Given the description of an element on the screen output the (x, y) to click on. 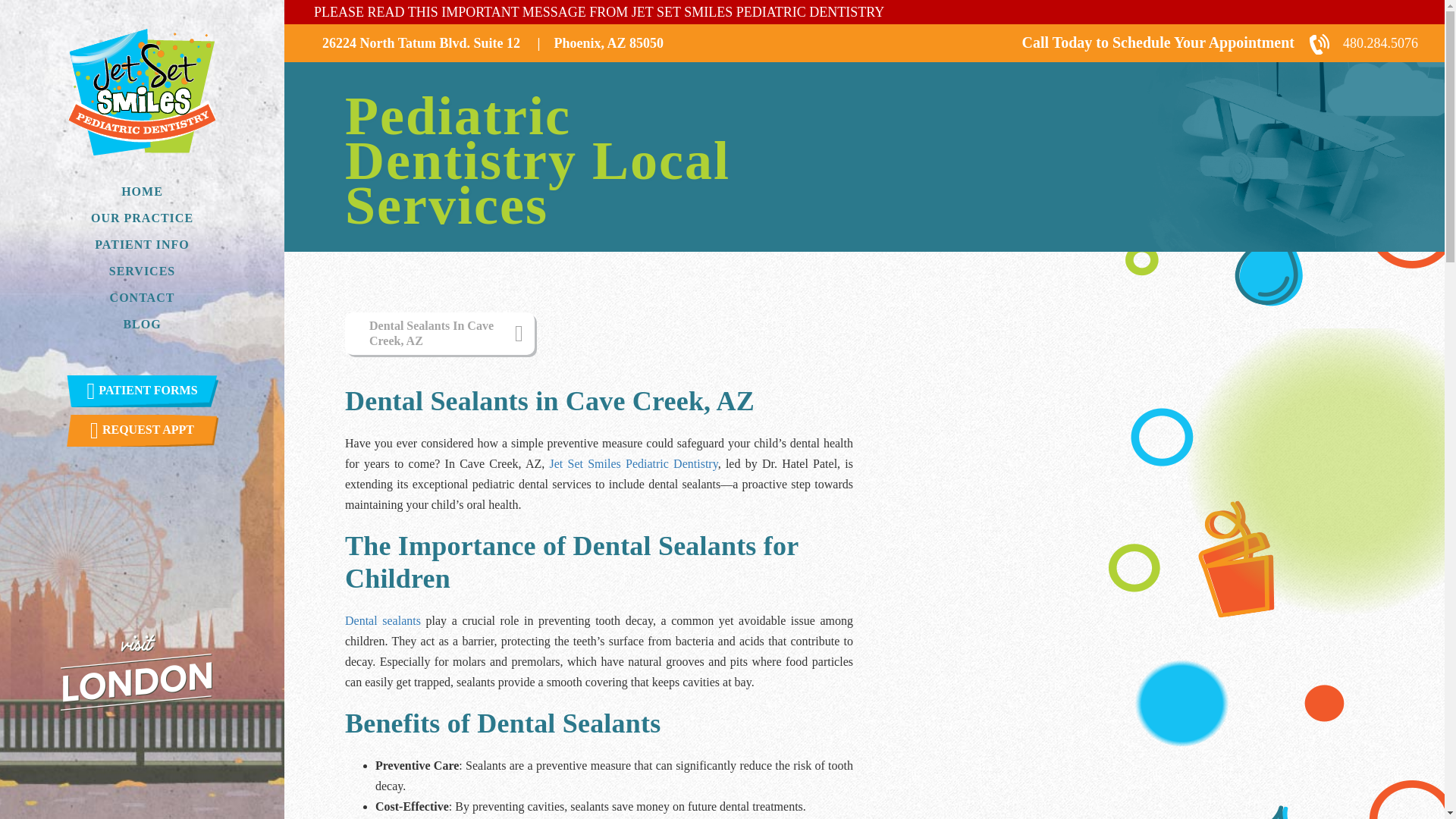
OUR PRACTICE (141, 217)
Home (141, 191)
BLOG (141, 324)
OUR PRACTICE (141, 217)
Patient Info (141, 243)
PATIENT FORMS (142, 391)
CONTACT (142, 297)
Services (142, 270)
HOME (141, 191)
480.284.5076 (1363, 42)
REQUEST APPT (142, 430)
PATIENT INFO (141, 243)
Dental Sealants In Cave Creek, AZ (439, 333)
SERVICES (142, 270)
